Given the description of an element on the screen output the (x, y) to click on. 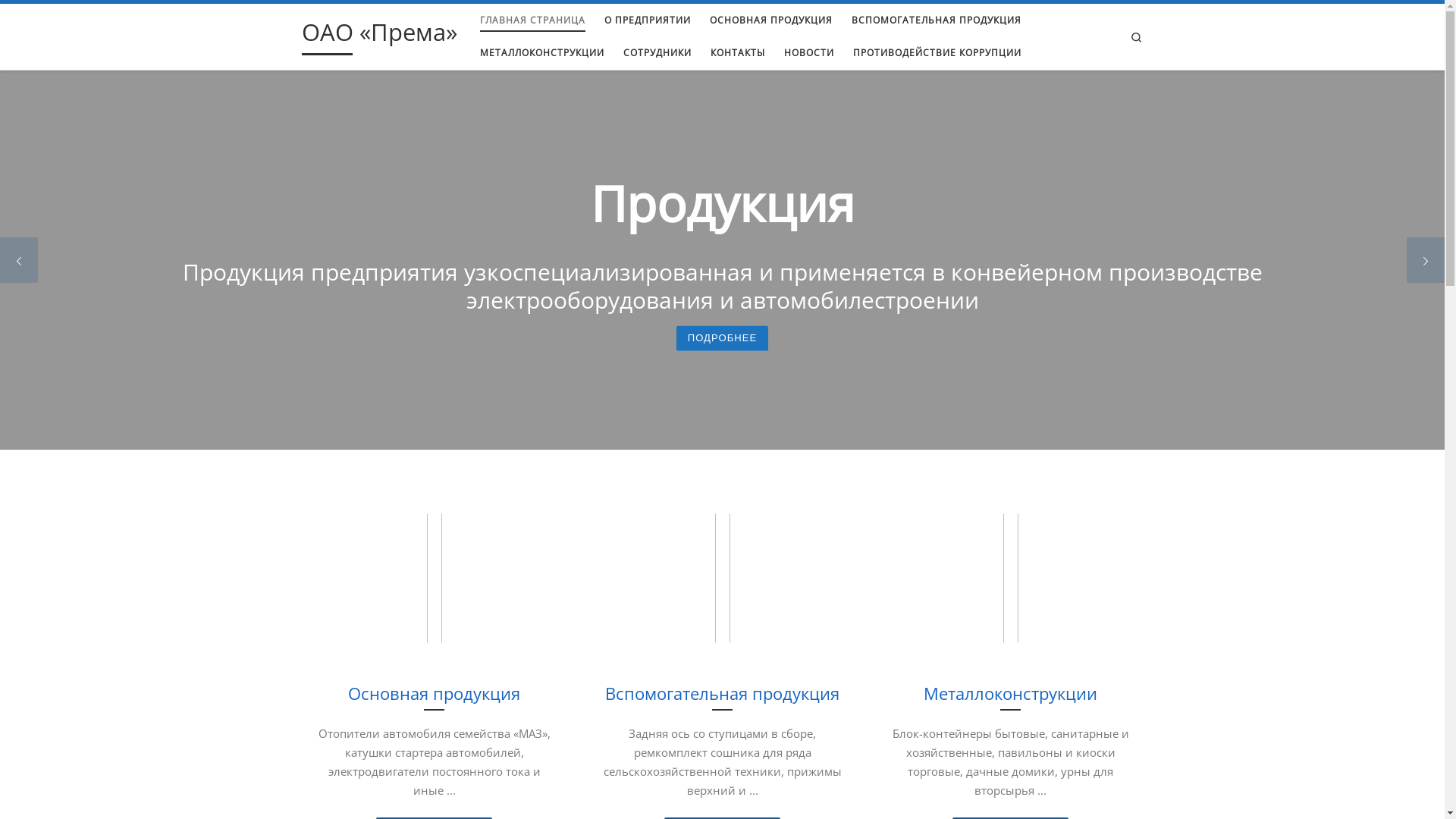
Search Element type: text (1135, 36)
